Given the description of an element on the screen output the (x, y) to click on. 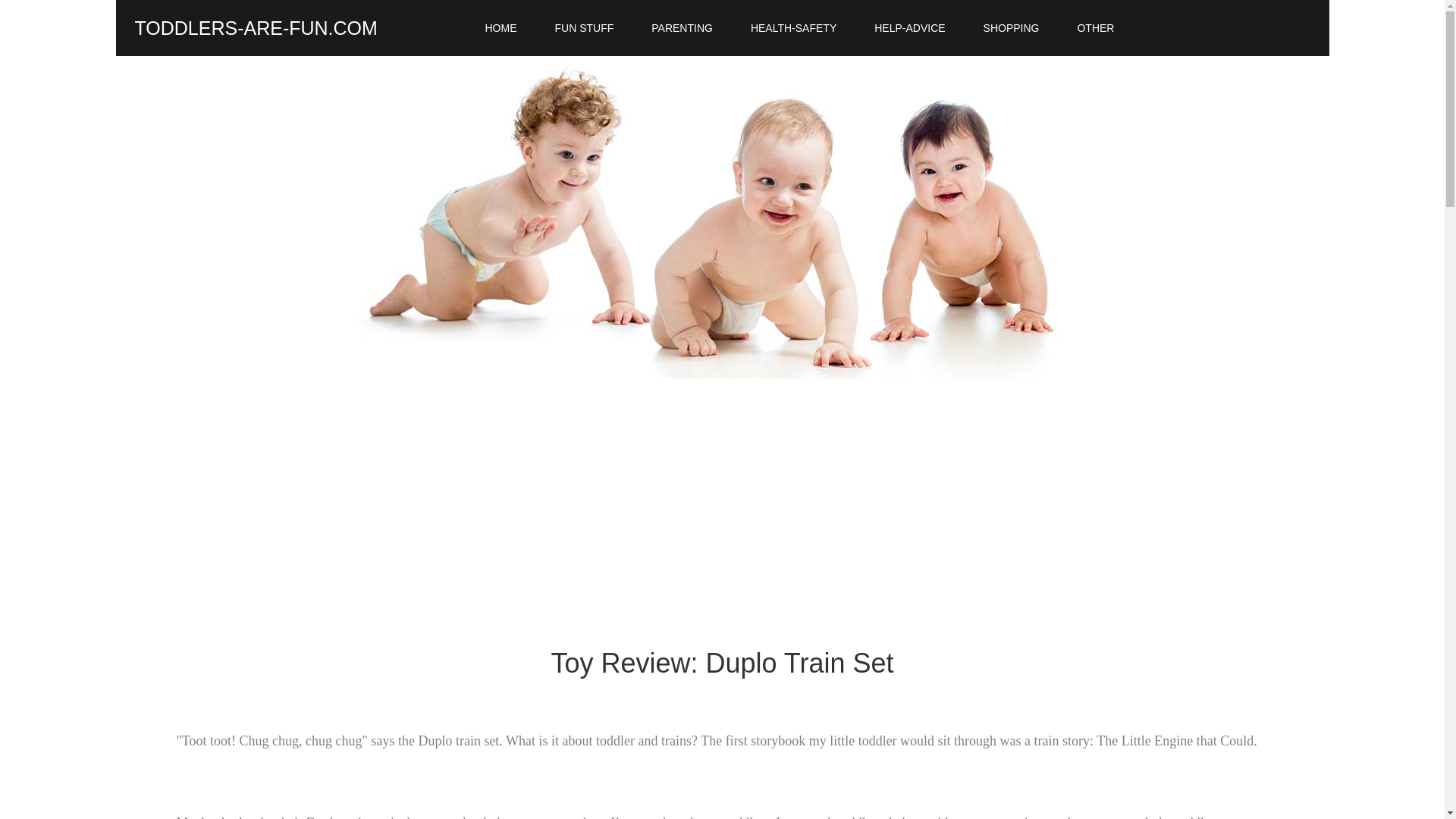
TODDLERS-ARE-FUN.COM (256, 27)
HOME (500, 27)
